Given the description of an element on the screen output the (x, y) to click on. 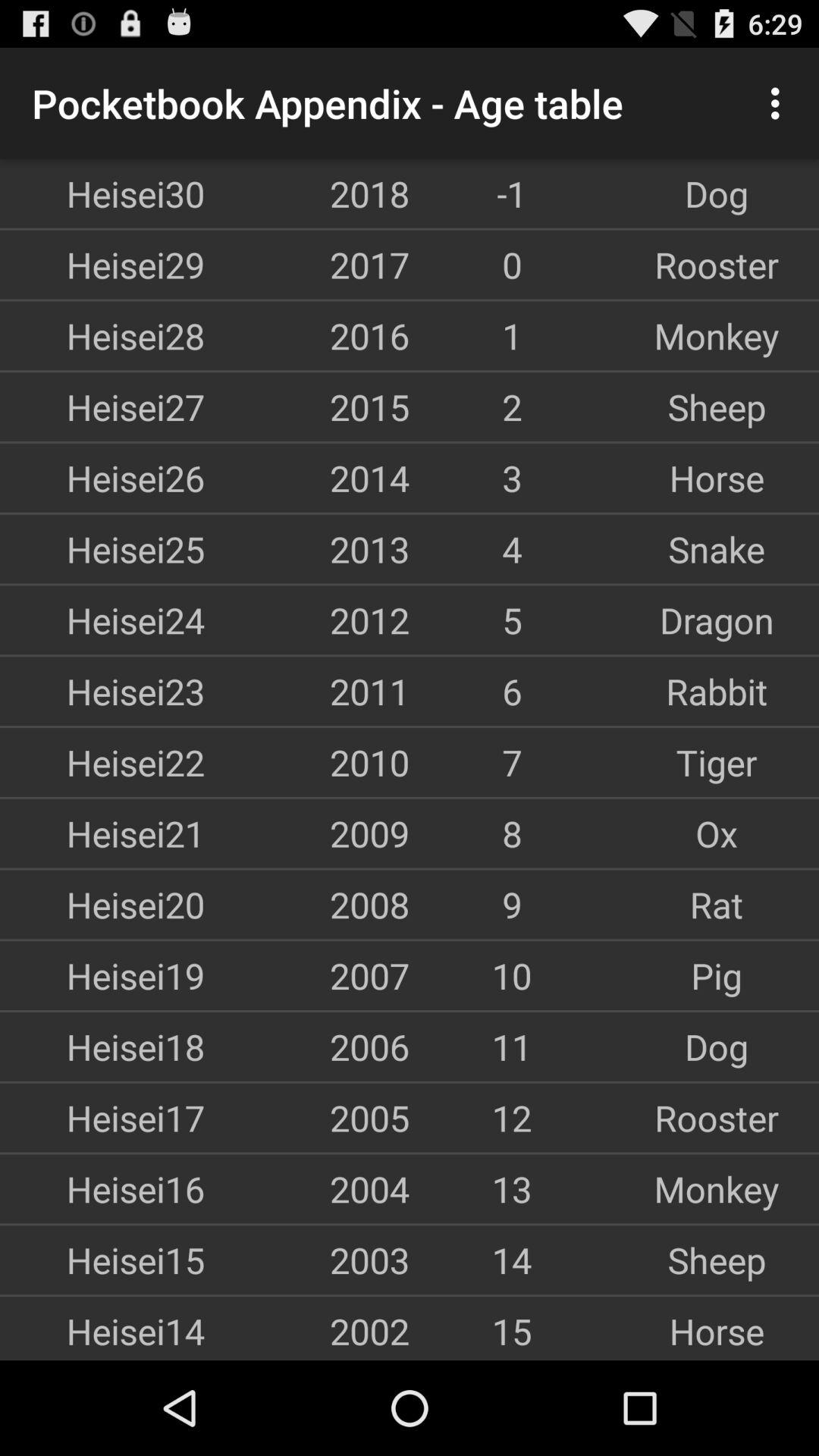
click the icon below the pocketbook appendix age app (306, 193)
